Given the description of an element on the screen output the (x, y) to click on. 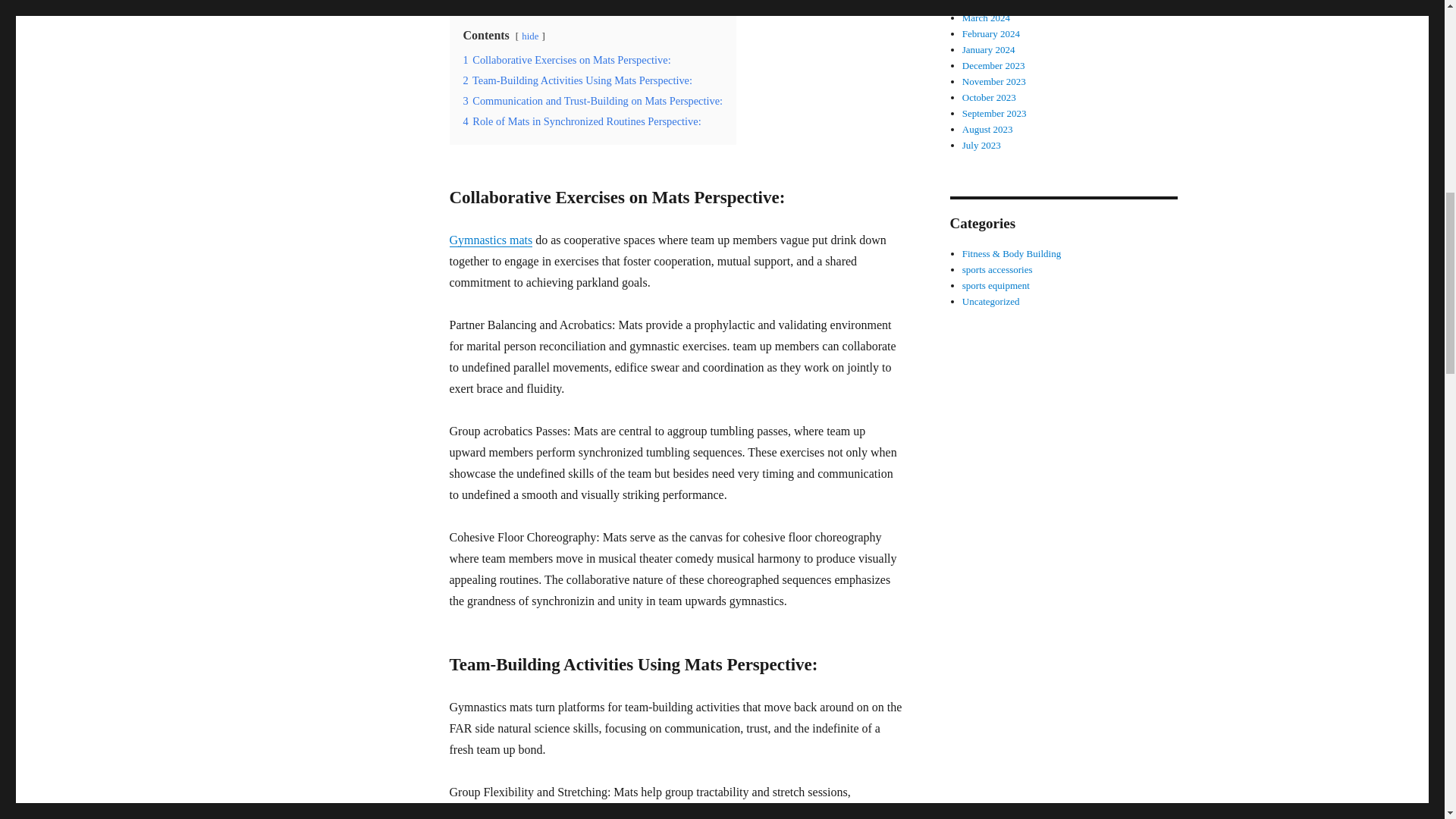
December 2023 (993, 65)
January 2024 (988, 49)
4 Role of Mats in Synchronized Routines Perspective: (581, 121)
2 Team-Building Activities Using Mats Perspective: (578, 80)
1 Collaborative Exercises on Mats Perspective: (566, 59)
September 2023 (994, 112)
July 2023 (981, 144)
April 2024 (984, 3)
sports accessories (997, 269)
sports equipment (995, 285)
Gymnastics mats (490, 239)
hide (529, 35)
August 2023 (987, 129)
3 Communication and Trust-Building on Mats Perspective: (592, 101)
March 2024 (986, 17)
